Given the description of an element on the screen output the (x, y) to click on. 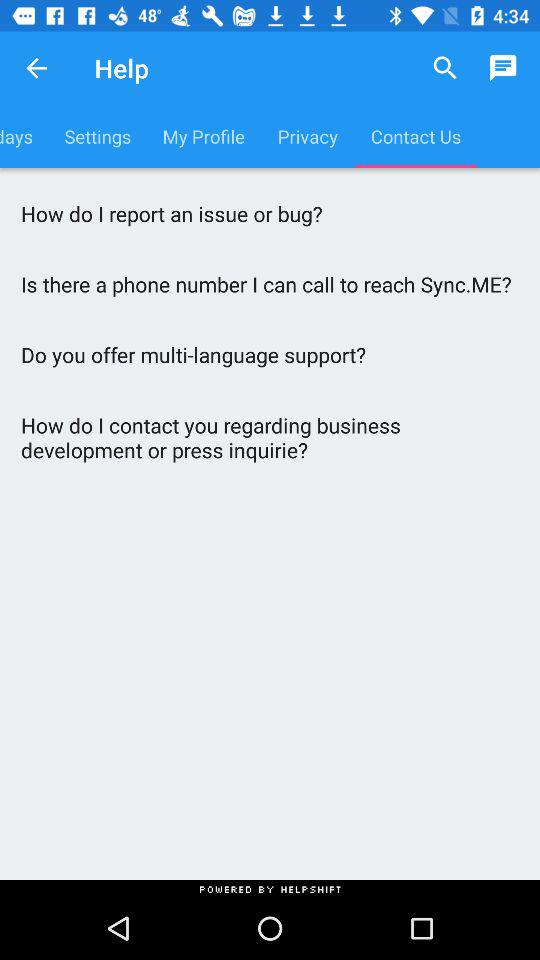
turn on item above do you offer icon (270, 284)
